Given the description of an element on the screen output the (x, y) to click on. 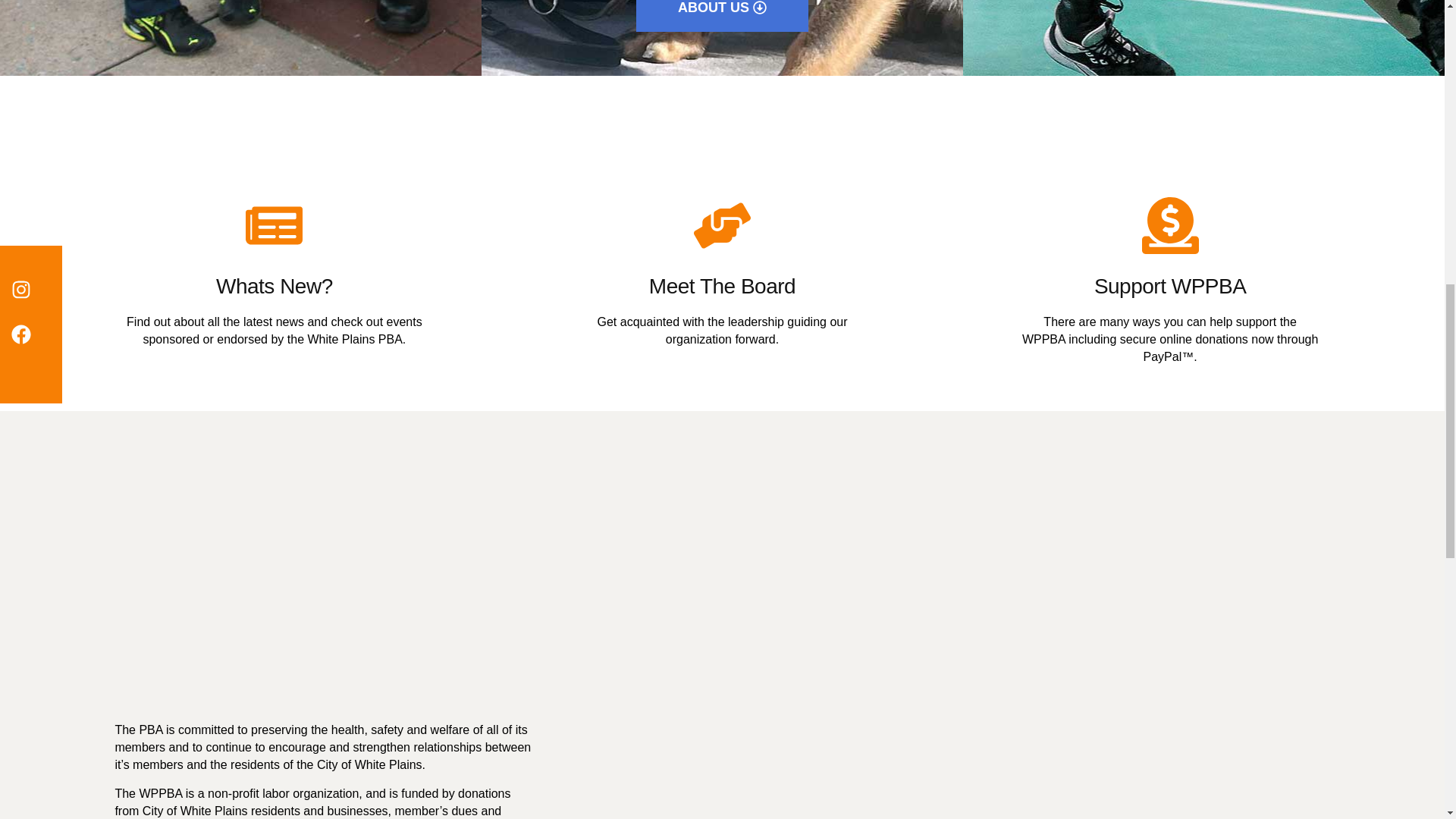
Whats New? (274, 286)
Meet The Board (721, 286)
Support WPPBA (1170, 286)
ABOUT US (722, 15)
